Given the description of an element on the screen output the (x, y) to click on. 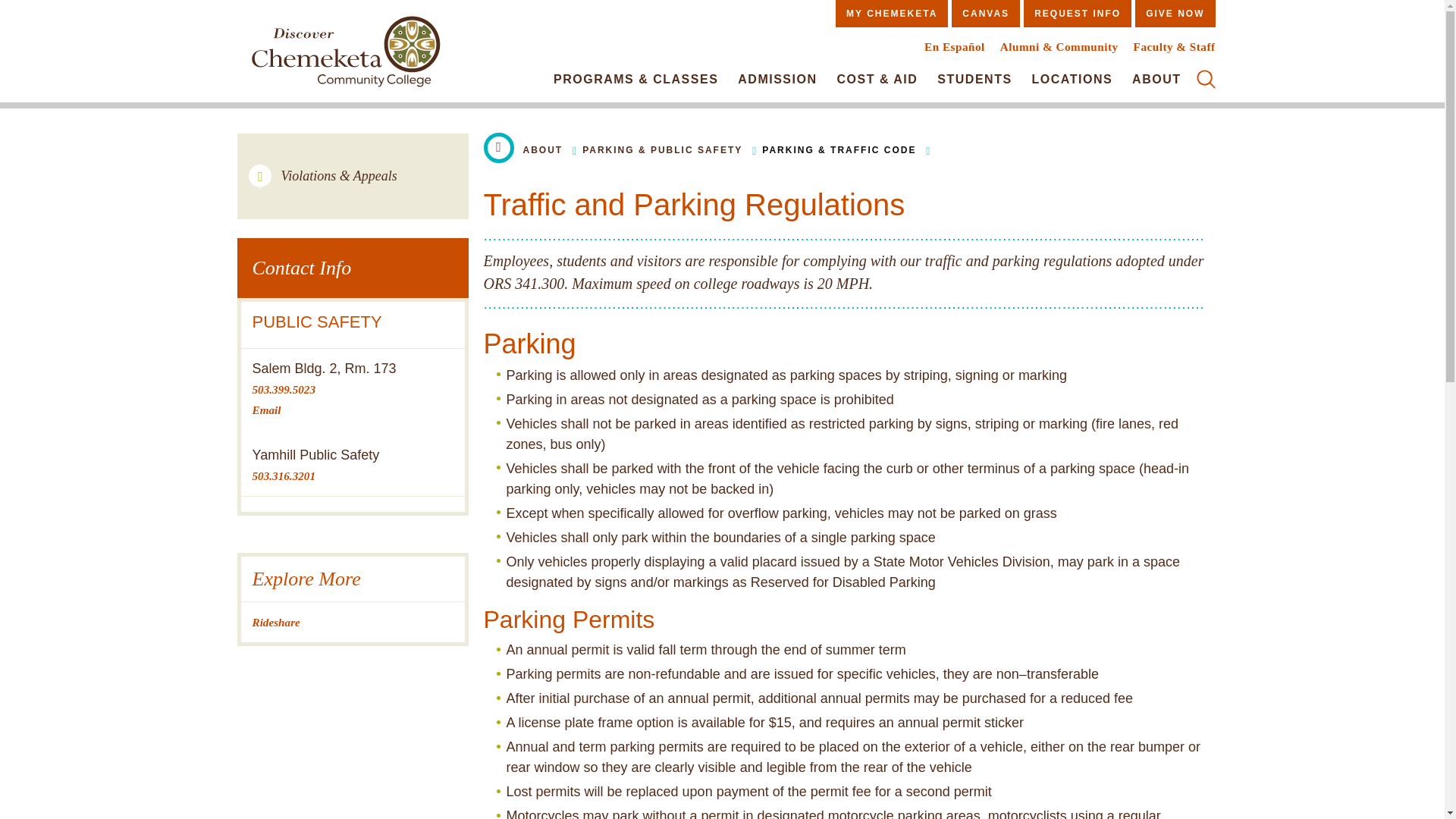
STUDENTS (974, 79)
ADMISSION (777, 79)
50 Years at Chemeketa Community College (344, 54)
DISCOVER CHEMEKETA COMMUNITY COLLEGE (344, 54)
